Given the description of an element on the screen output the (x, y) to click on. 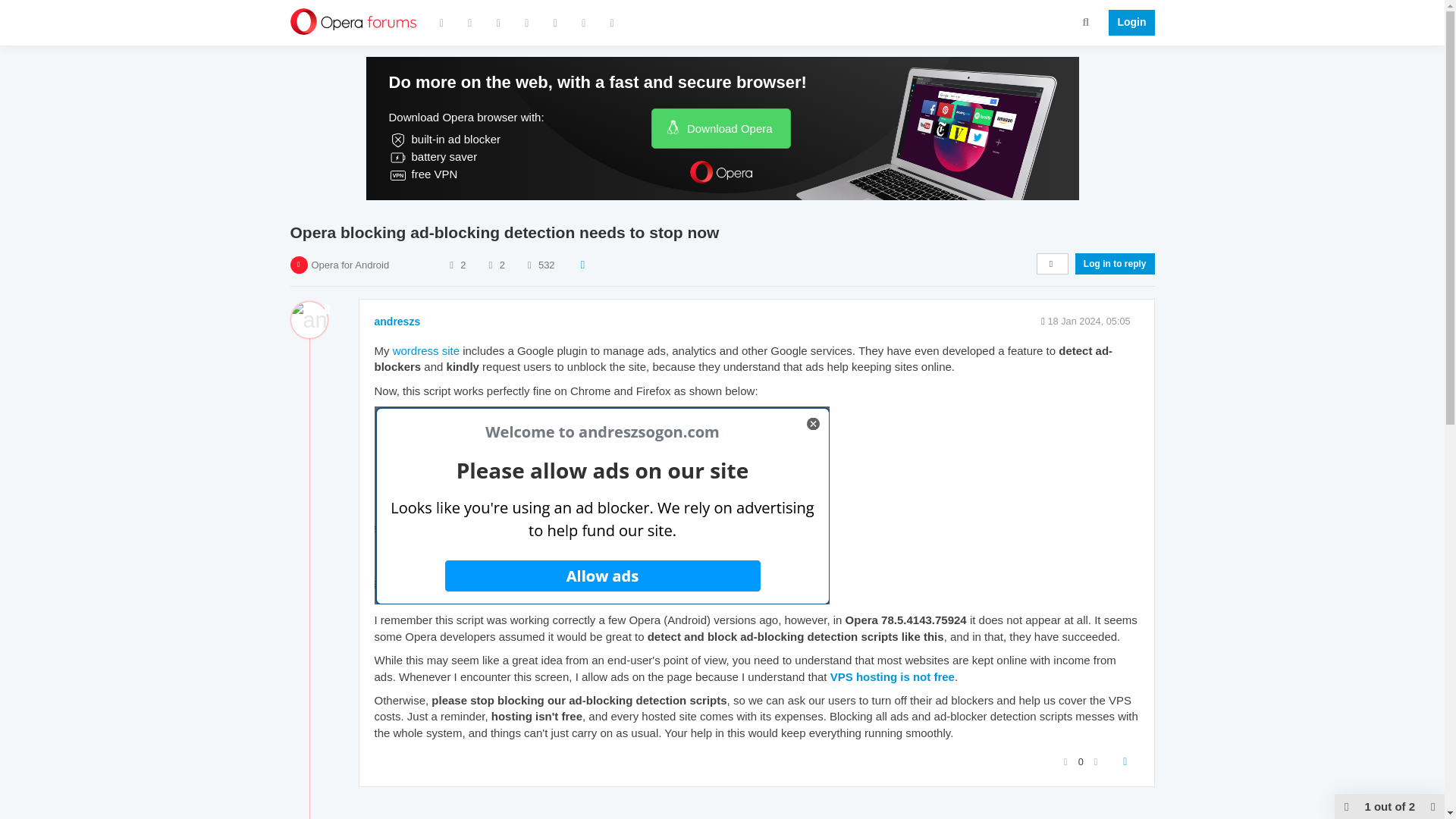
Login (1127, 22)
Log in to reply (1114, 263)
Download Opera (720, 128)
andreszs (397, 321)
Search (1085, 21)
Opera for Android (349, 265)
18 Jan 2024, 05:05 (1087, 320)
